Given the description of an element on the screen output the (x, y) to click on. 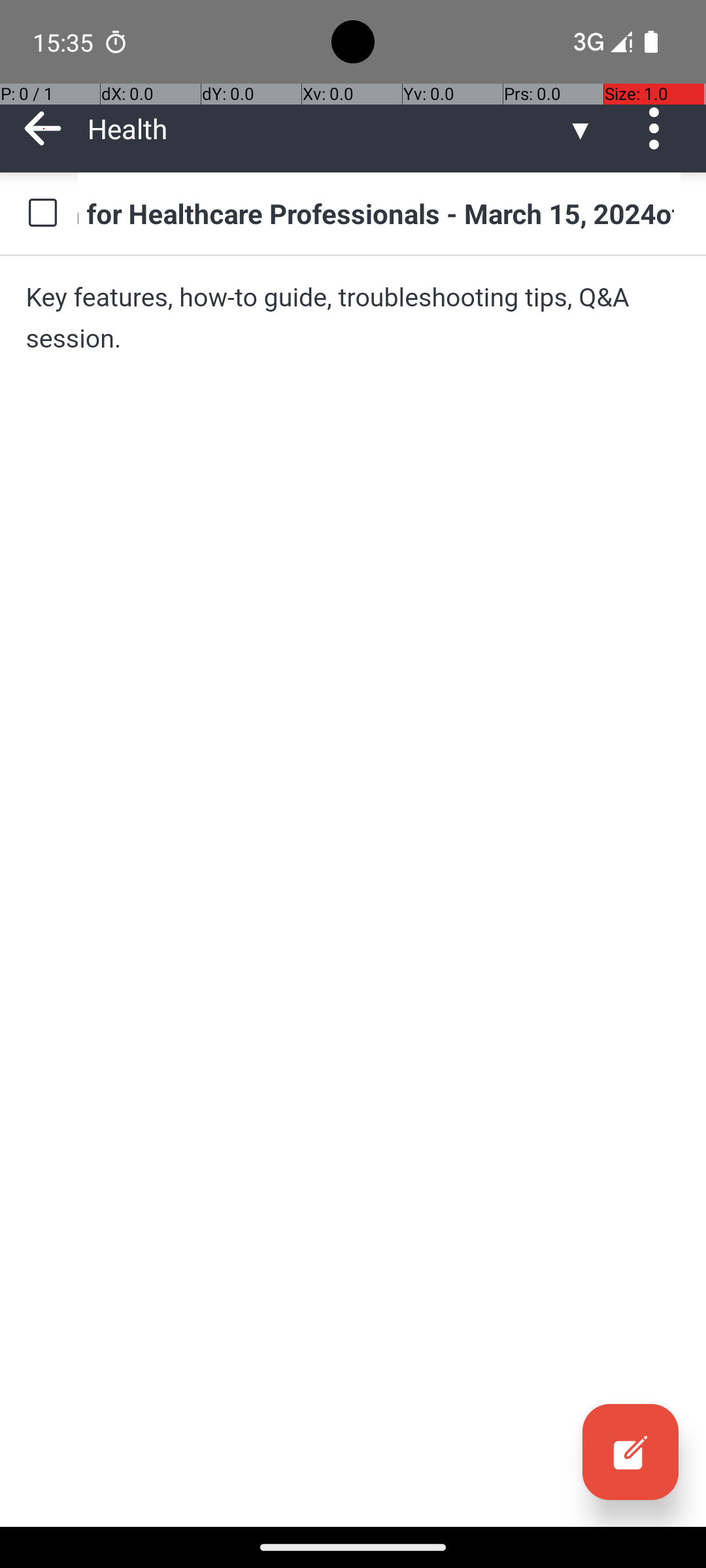
Training Session - New SNew Software Training Session for Healthcare Professionals - March 15, 2024oftware - March 7, 2024 Element type: android.widget.EditText (378, 213)
Key features, how-to guide, troubleshooting tips, Q&A session. Element type: android.widget.TextView (352, 317)
